Given the description of an element on the screen output the (x, y) to click on. 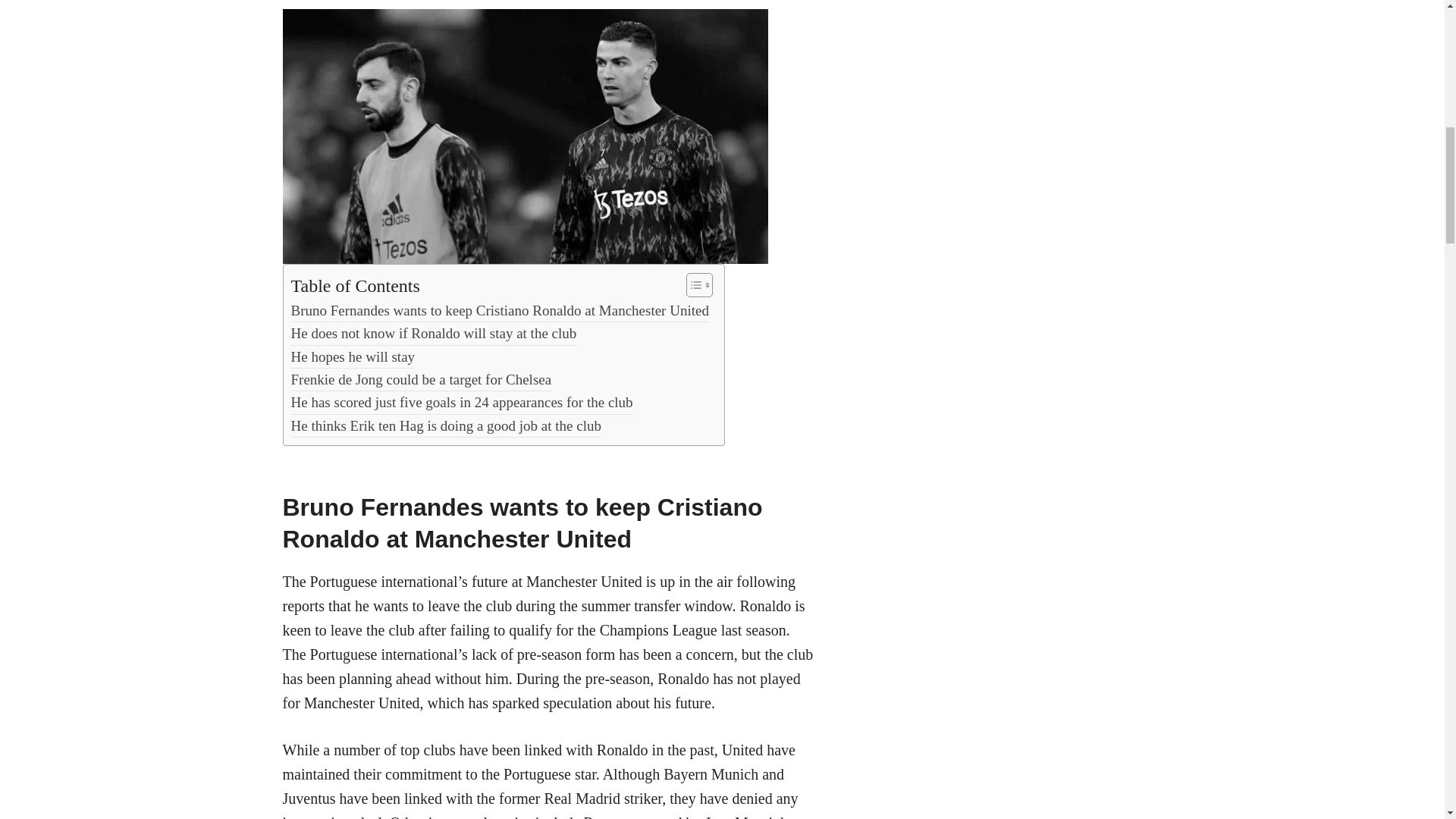
He has scored just five goals in 24 appearances for the club (462, 402)
He hopes he will stay (352, 356)
He thinks Erik ten Hag is doing a good job at the club (446, 425)
He thinks Erik ten Hag is doing a good job at the club (446, 425)
He hopes he will stay (352, 356)
He has scored just five goals in 24 appearances for the club (462, 402)
He does not know if Ronaldo will stay at the club (433, 333)
Frenkie de Jong could be a target for Chelsea (421, 379)
He does not know if Ronaldo will stay at the club (433, 333)
Frenkie de Jong could be a target for Chelsea (421, 379)
